Given the description of an element on the screen output the (x, y) to click on. 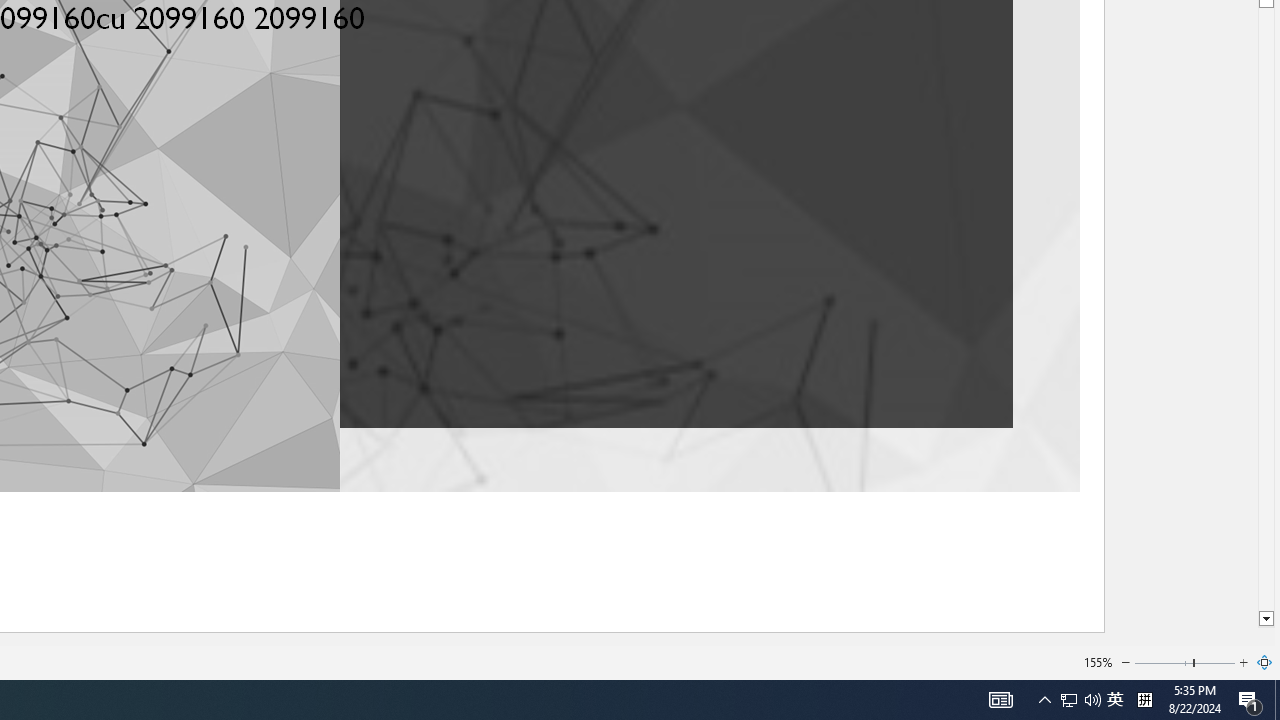
Page left (1163, 662)
Page right (1215, 662)
Zoom to Page (1265, 662)
155% (1098, 662)
